Given the description of an element on the screen output the (x, y) to click on. 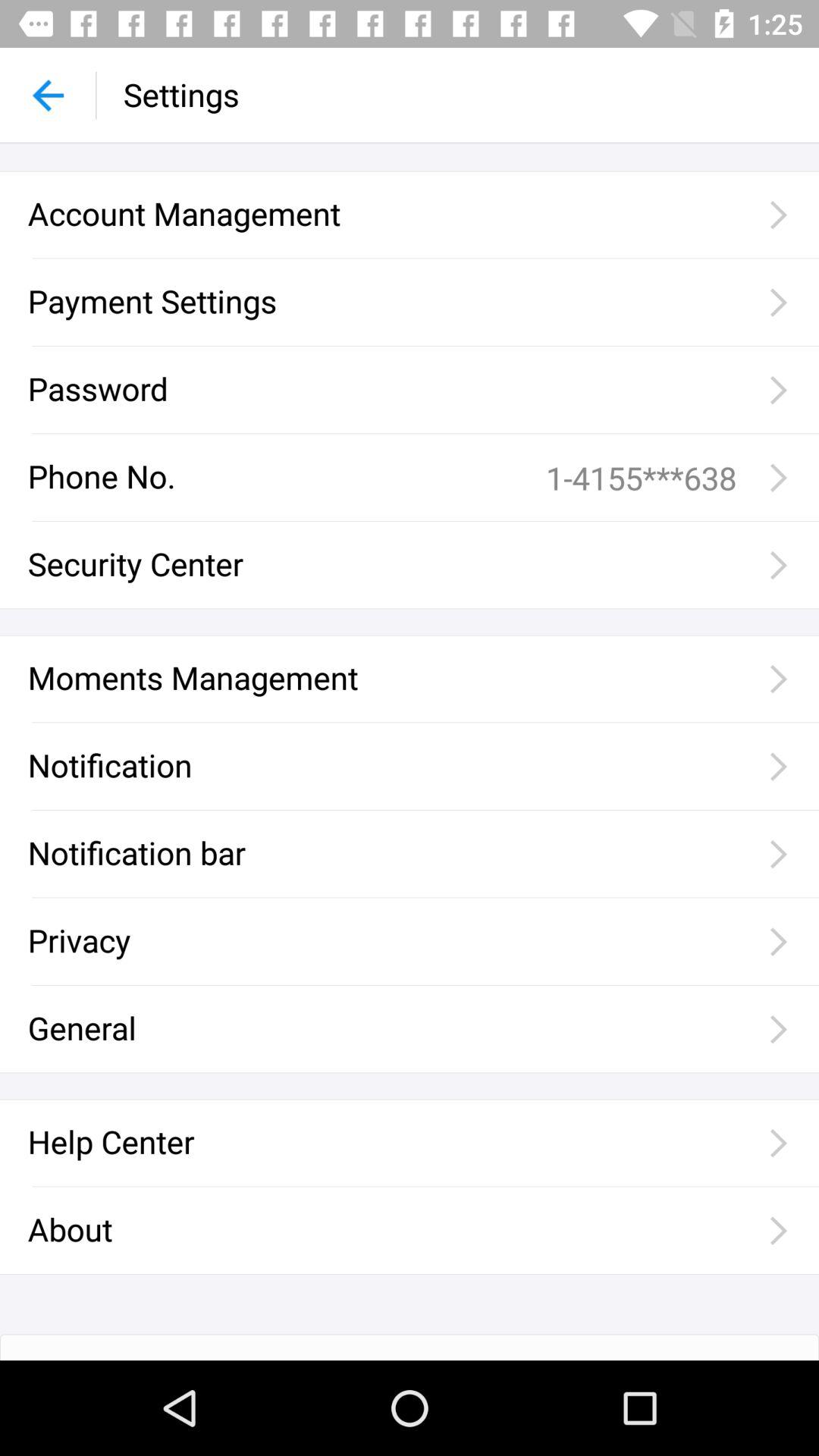
select next button after security center on the page (777, 564)
